Given the description of an element on the screen output the (x, y) to click on. 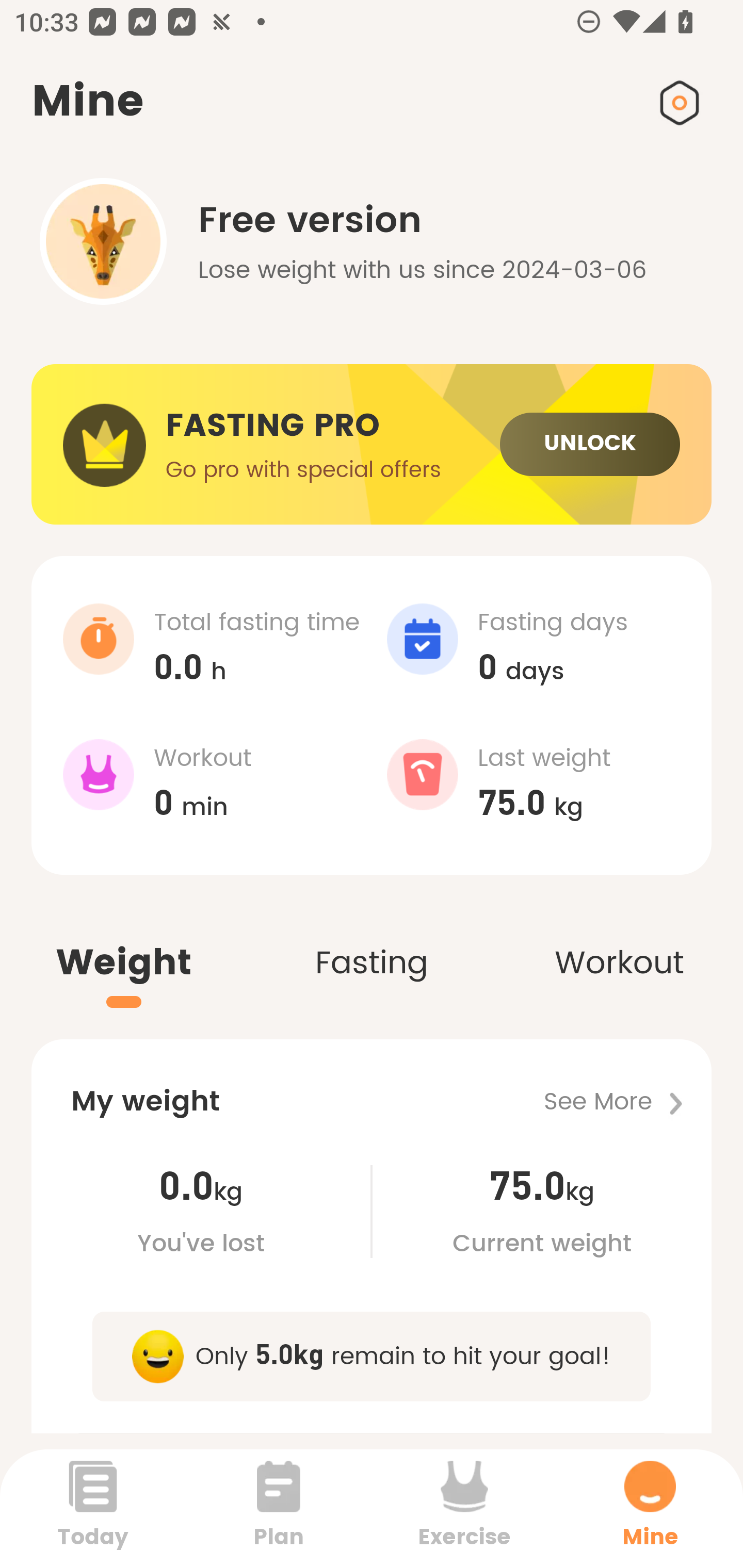
FASTING PRO Go pro with special offers UNLOCK (371, 444)
Fasting (371, 941)
Workout (619, 941)
See More (627, 1101)
Today (92, 1508)
Plan (278, 1508)
Exercise (464, 1508)
